Given the description of an element on the screen output the (x, y) to click on. 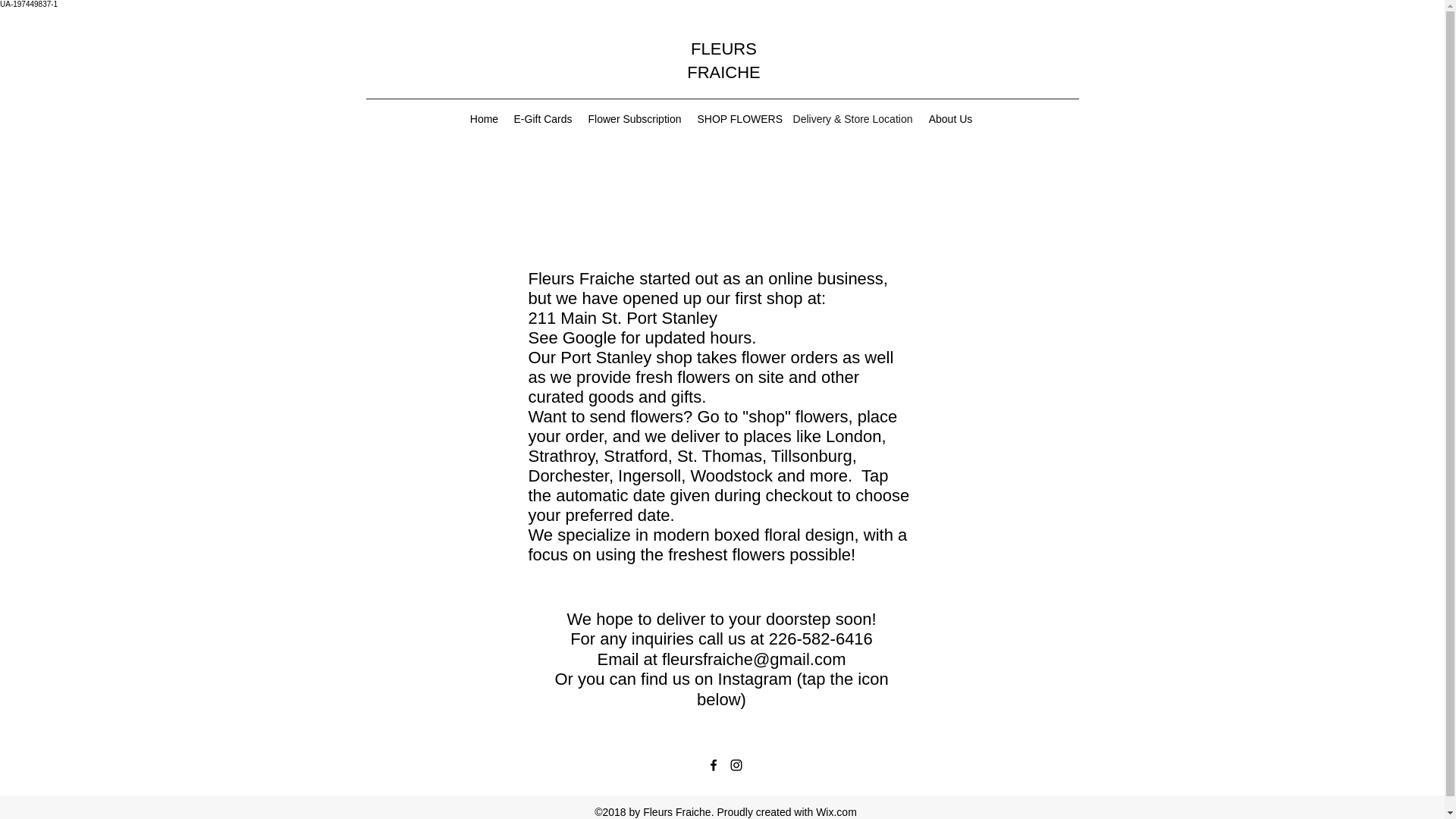
About Us (950, 118)
SHOP FLOWERS (738, 118)
Home (484, 118)
Flower Subscription (633, 118)
E-Gift Cards (542, 118)
FLEURS FRAICHE (723, 60)
